Given the description of an element on the screen output the (x, y) to click on. 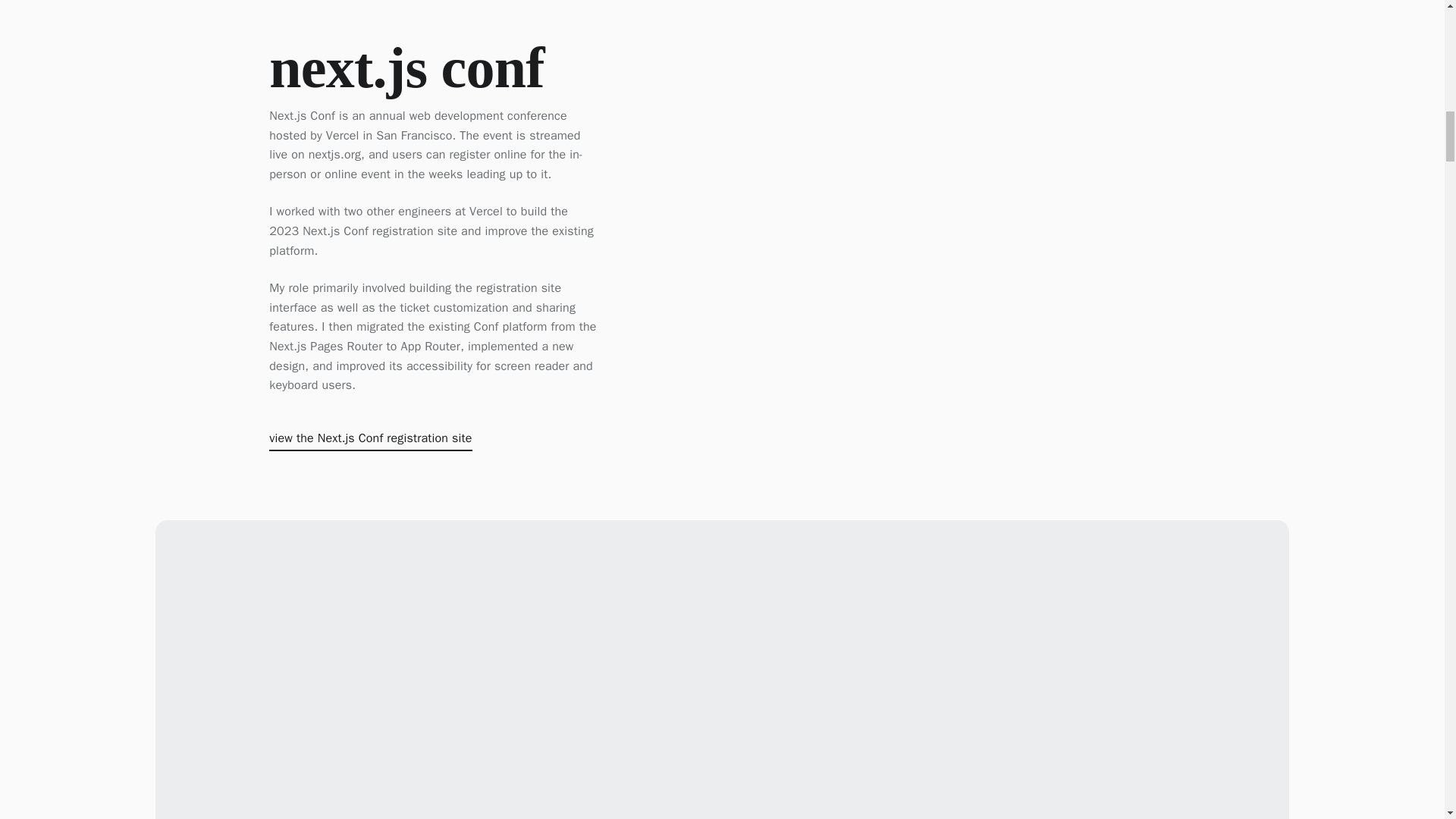
view the Next.js Conf registration site (370, 441)
